Given the description of an element on the screen output the (x, y) to click on. 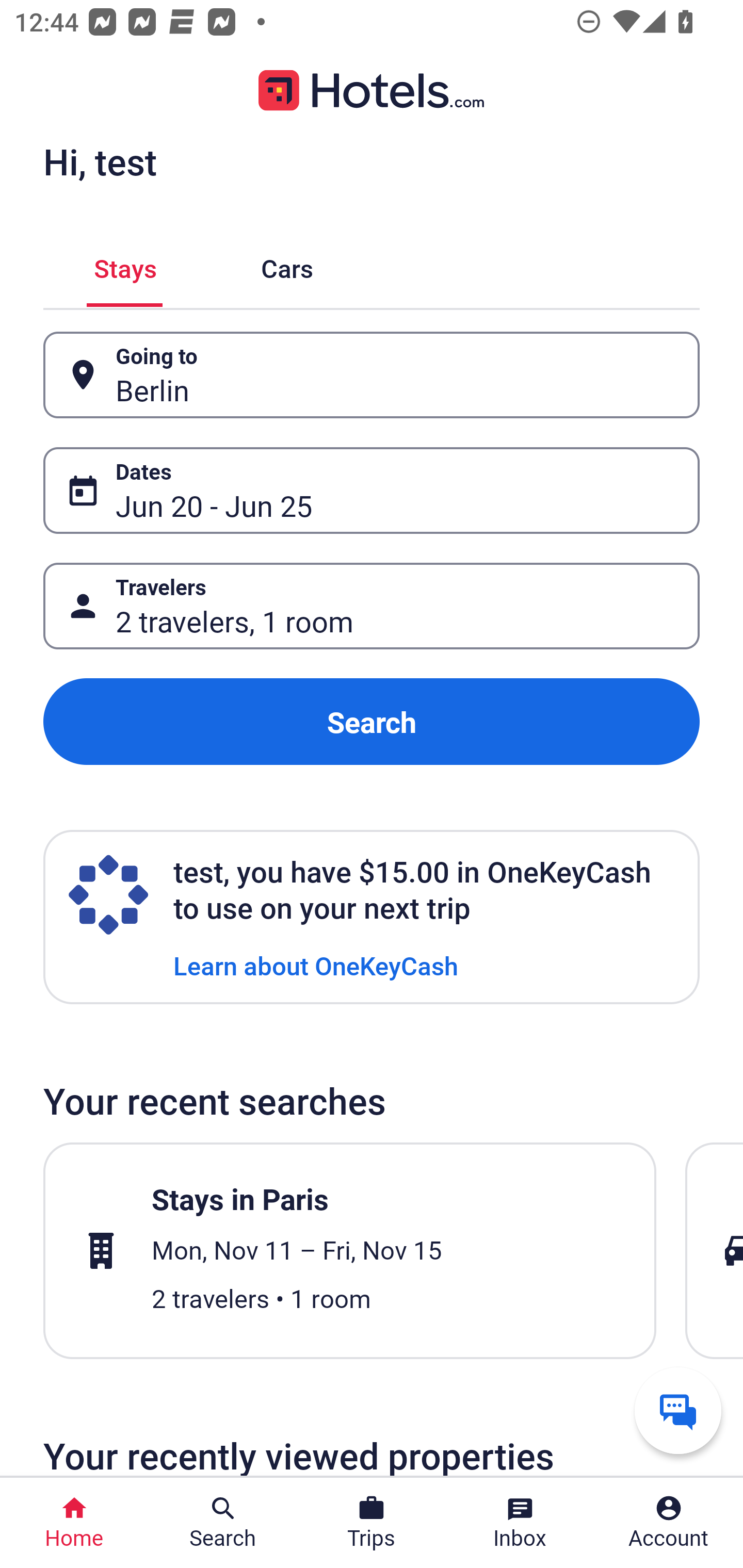
Hi, test (99, 161)
Cars (286, 265)
Going to Button Berlin (371, 375)
Dates Button Jun 20 - Jun 25 (371, 489)
Travelers Button 2 travelers, 1 room (371, 605)
Search (371, 721)
Learn about OneKeyCash Learn about OneKeyCash Link (315, 964)
Get help from a virtual agent (677, 1410)
Search Search Button (222, 1522)
Trips Trips Button (371, 1522)
Inbox Inbox Button (519, 1522)
Account Profile. Button (668, 1522)
